Given the description of an element on the screen output the (x, y) to click on. 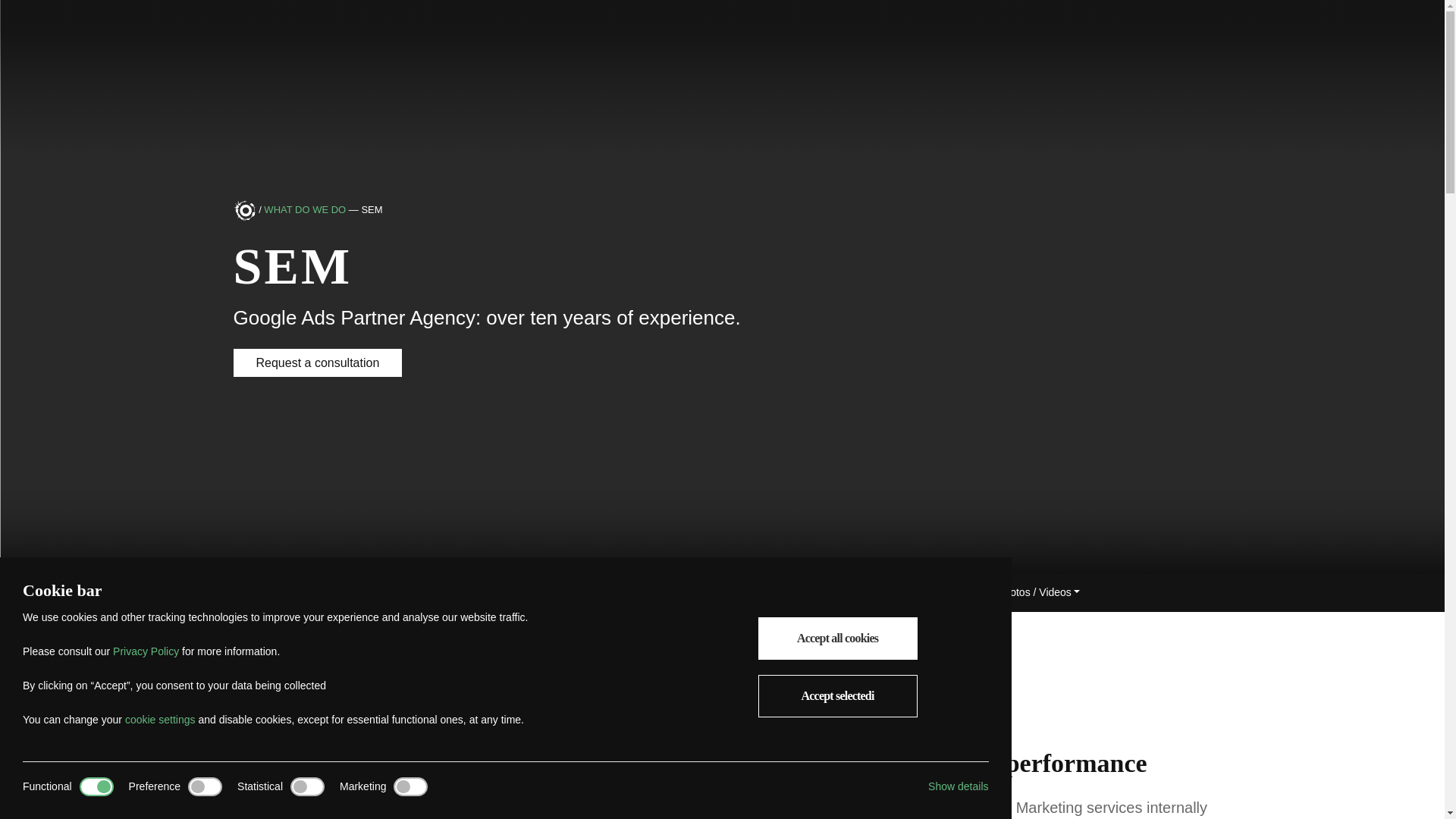
Web Analytics (426, 592)
Consultancy (516, 592)
WHAT DO WE DO (304, 210)
Request a consultation (317, 362)
